Given the description of an element on the screen output the (x, y) to click on. 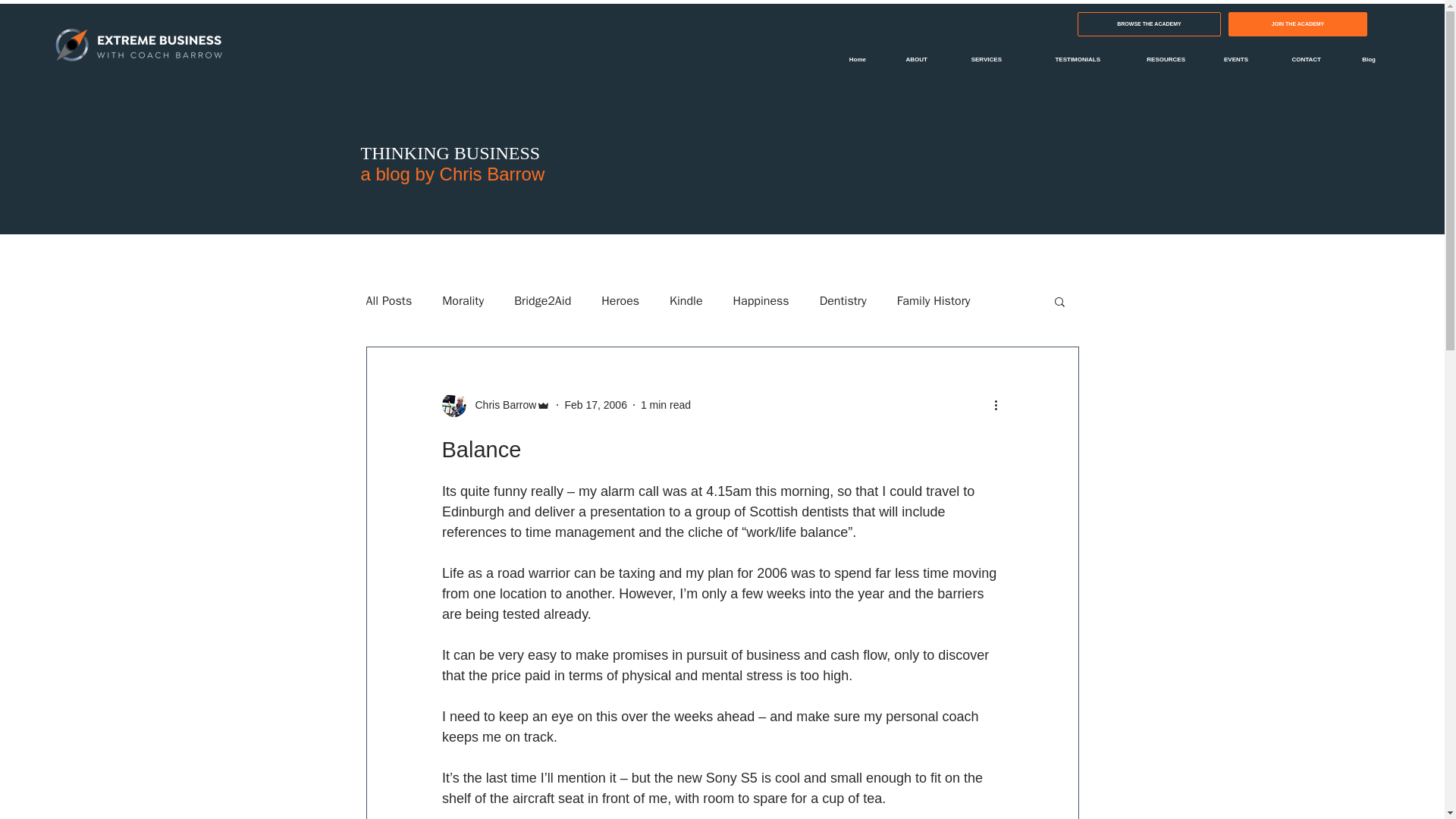
CONTACT (1295, 59)
1 min read (665, 404)
Morality (462, 300)
Feb 17, 2006 (595, 404)
Kindle (685, 300)
Happiness (761, 300)
BROWSE THE ACADEMY (1149, 24)
TESTIMONIALS (1062, 59)
Bridge2Aid (541, 300)
Blog (1359, 59)
Family History (933, 300)
All Posts (388, 300)
Dentistry (842, 300)
EVENTS (1227, 59)
Heroes (620, 300)
